Given the description of an element on the screen output the (x, y) to click on. 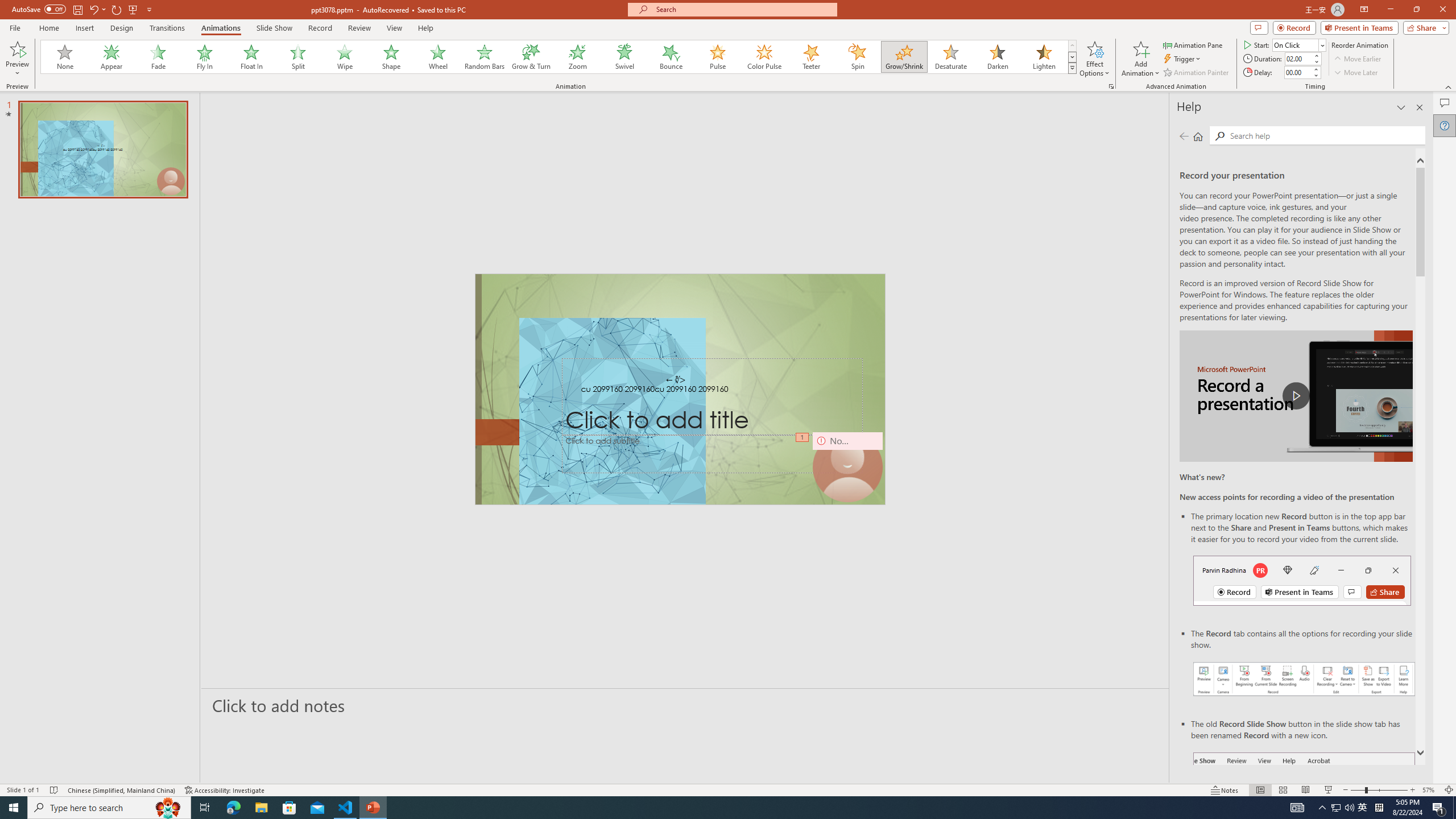
TextBox 7 (675, 380)
Fade (158, 56)
Pulse (717, 56)
Wheel (437, 56)
Grow & Turn (531, 56)
An abstract genetic concept (680, 389)
Previous page (1183, 136)
